Given the description of an element on the screen output the (x, y) to click on. 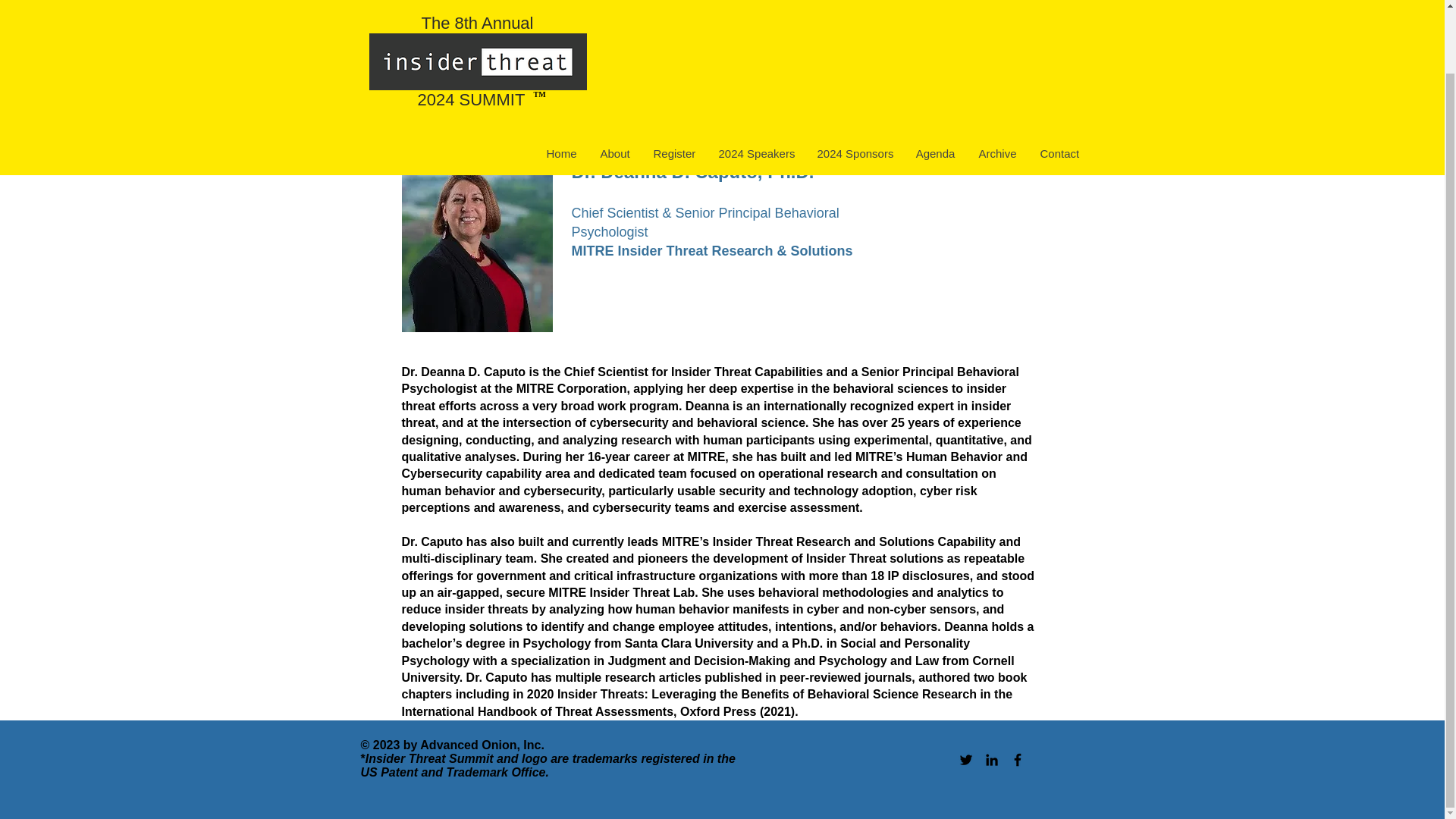
Contact (1058, 84)
About (615, 84)
2024 Sponsors (854, 84)
Archive (996, 84)
Home (561, 84)
Agenda (935, 84)
2024 Speakers (755, 84)
Register (674, 84)
